Given the description of an element on the screen output the (x, y) to click on. 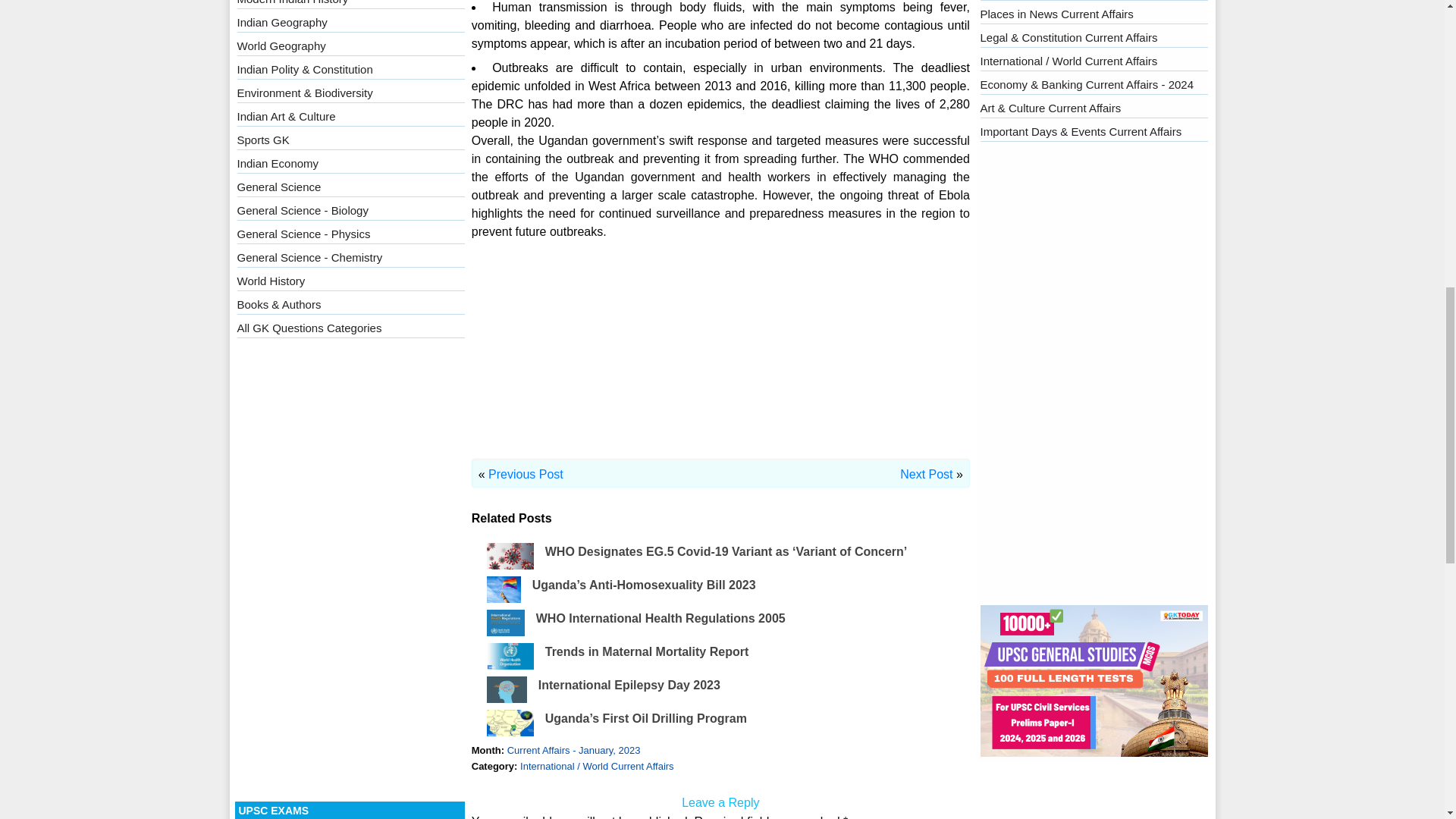
Trends in Maternal Mortality Report (646, 651)
WHO International Health Regulations 2005 (660, 617)
Advertisement (720, 348)
Previous Post (525, 473)
International Epilepsy Day 2023 (629, 684)
Trends in Maternal Mortality Report (646, 651)
Current Affairs - January, 2023 (573, 749)
Advertisement (1093, 376)
Advertisement (349, 572)
International Epilepsy Day 2023 (629, 684)
Next Post (925, 473)
WHO International Health Regulations 2005 (660, 617)
